Given the description of an element on the screen output the (x, y) to click on. 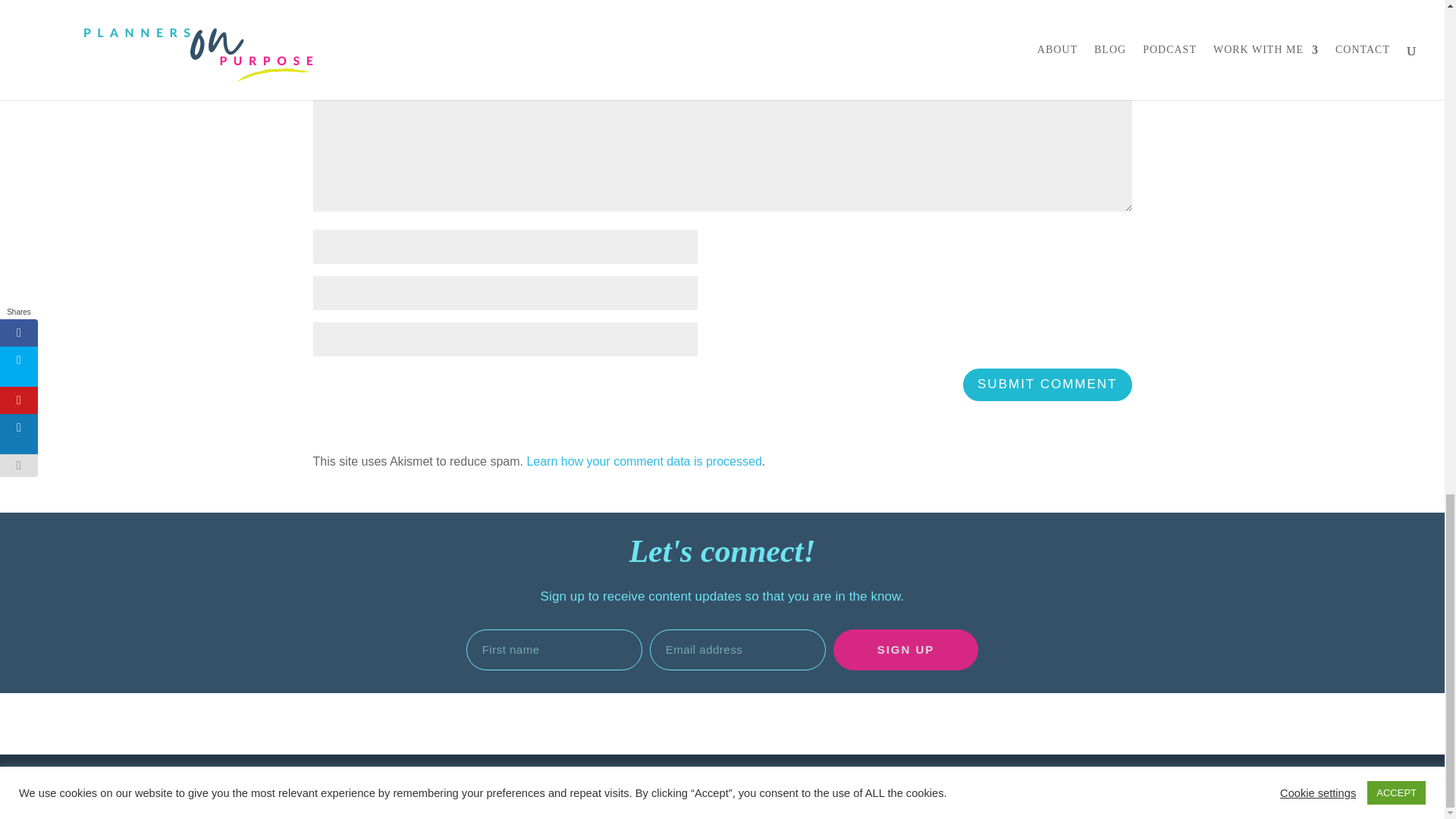
SIGN UP (905, 649)
SUBMIT COMMENT (1046, 384)
Contact (381, 804)
Learn how your comment data is processed (643, 461)
Terms of Use (912, 783)
Privacy Policy (659, 793)
Website Disclaimer  (806, 783)
